Given the description of an element on the screen output the (x, y) to click on. 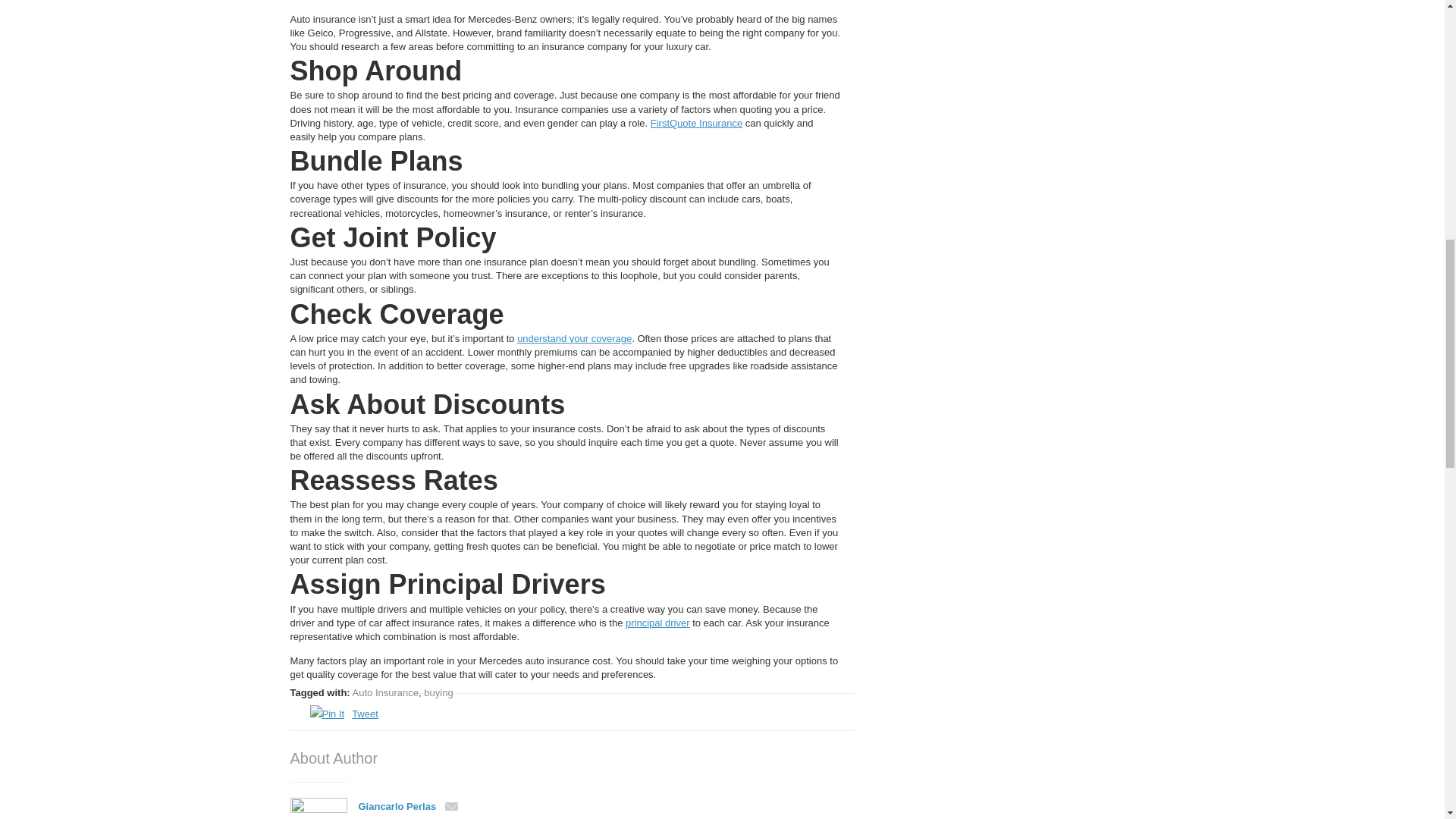
Send email (408, 806)
Pin It (325, 713)
